Given the description of an element on the screen output the (x, y) to click on. 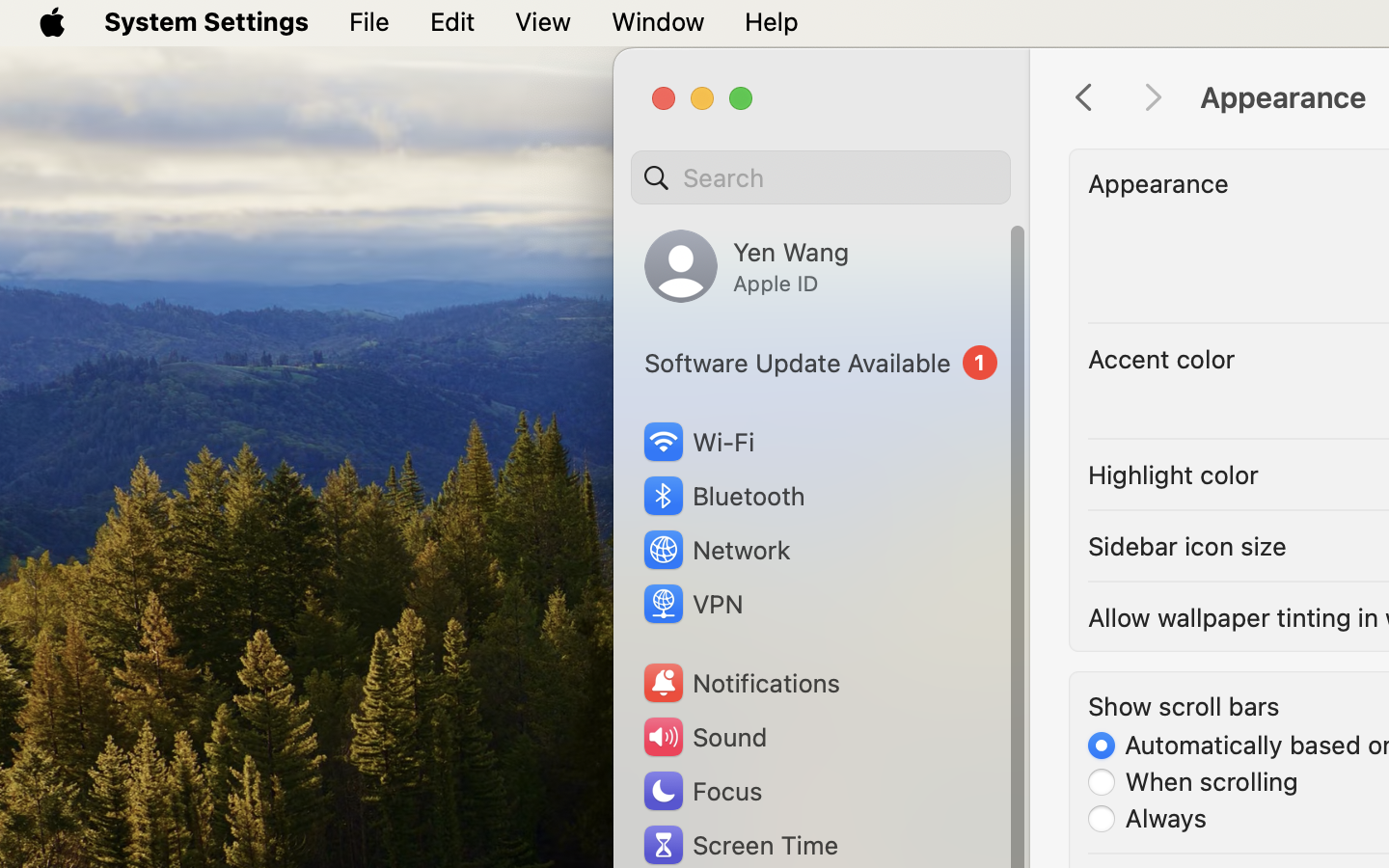
Bluetooth Element type: AXStaticText (723, 495)
